Given the description of an element on the screen output the (x, y) to click on. 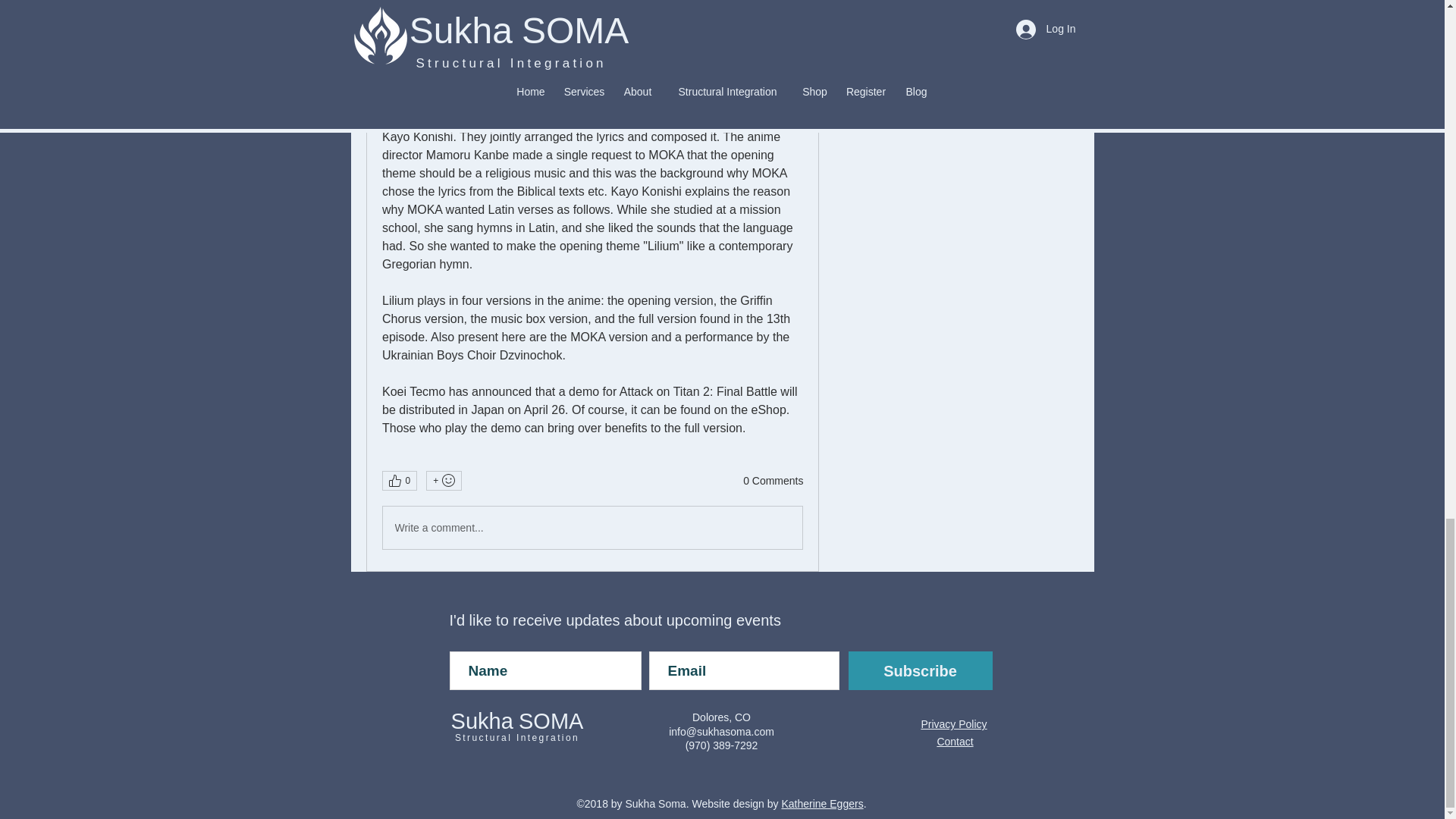
Sukha (482, 721)
Write a comment... (591, 527)
Contact (954, 741)
Privacy Policy (953, 724)
Subscribe (919, 670)
0 Comments (772, 481)
